Given the description of an element on the screen output the (x, y) to click on. 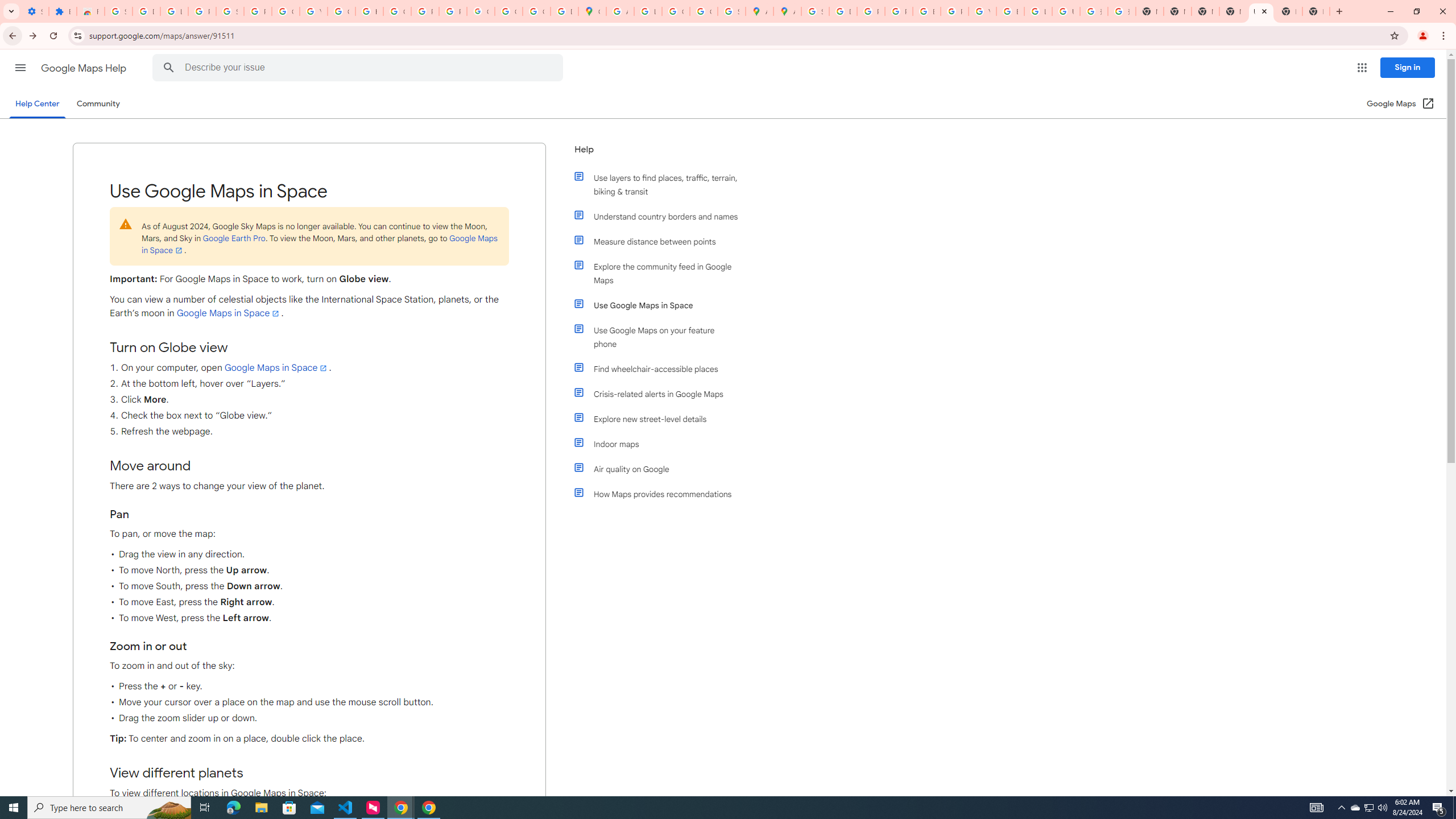
YouTube (982, 11)
Privacy Help Center - Policies Help (870, 11)
Sign in - Google Accounts (229, 11)
Delete photos & videos - Computer - Google Photos Help (146, 11)
Explore new street-level details (661, 419)
Help Center (36, 103)
Indoor maps (661, 444)
